Given the description of an element on the screen output the (x, y) to click on. 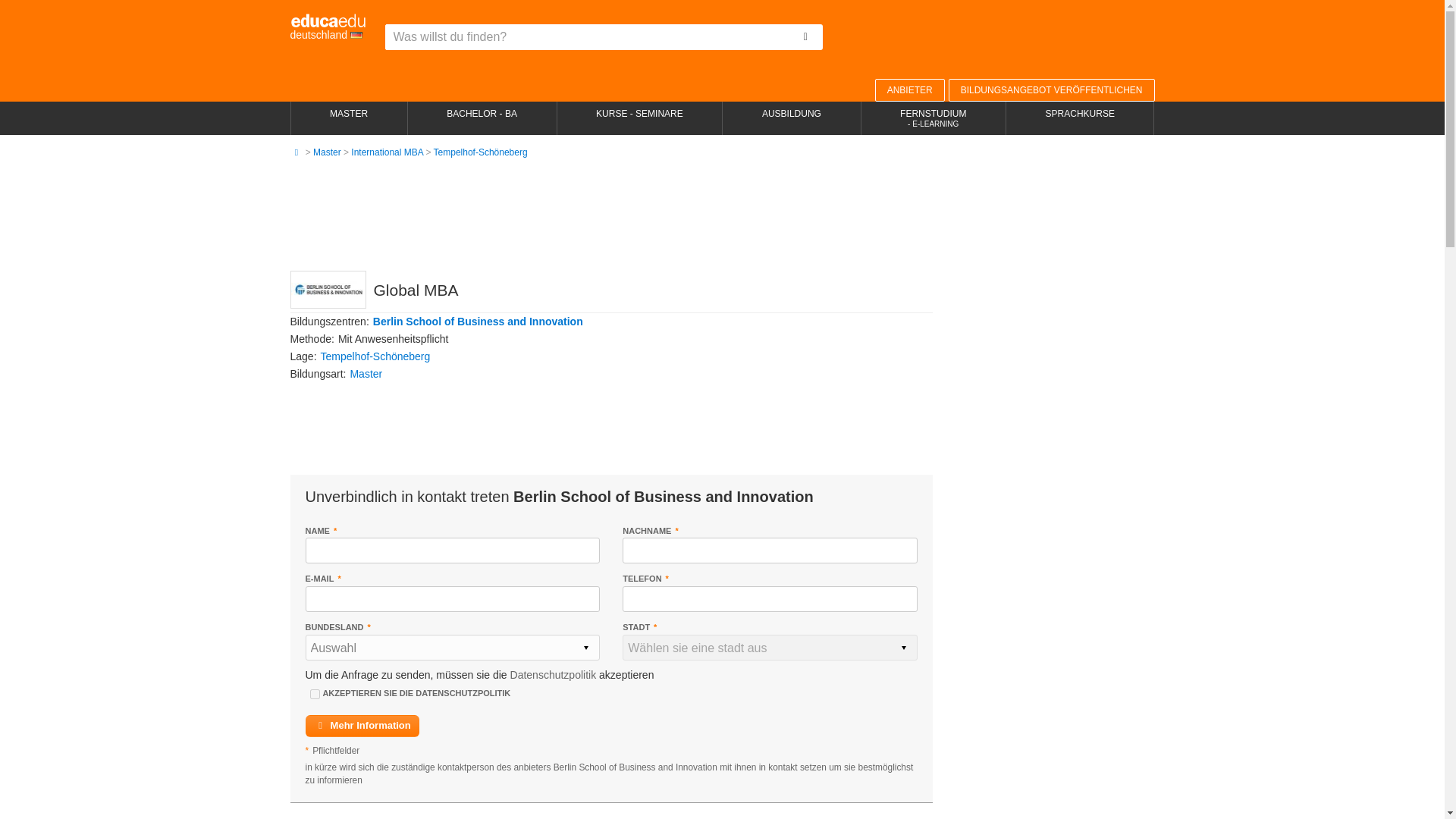
Master (326, 152)
on (313, 694)
Ausbildung (791, 118)
Fernstudium - E-learning (933, 118)
Educaedu Deutschland (328, 26)
AUSBILDUNG (791, 118)
Anbieter (909, 89)
Bachelor - BA (481, 118)
International MBA (386, 152)
MASTER (349, 118)
Master (365, 373)
Berlin School of Business and Innovation (477, 321)
Sprachkurse (1080, 118)
Mehr Information (361, 725)
Master (326, 152)
